Given the description of an element on the screen output the (x, y) to click on. 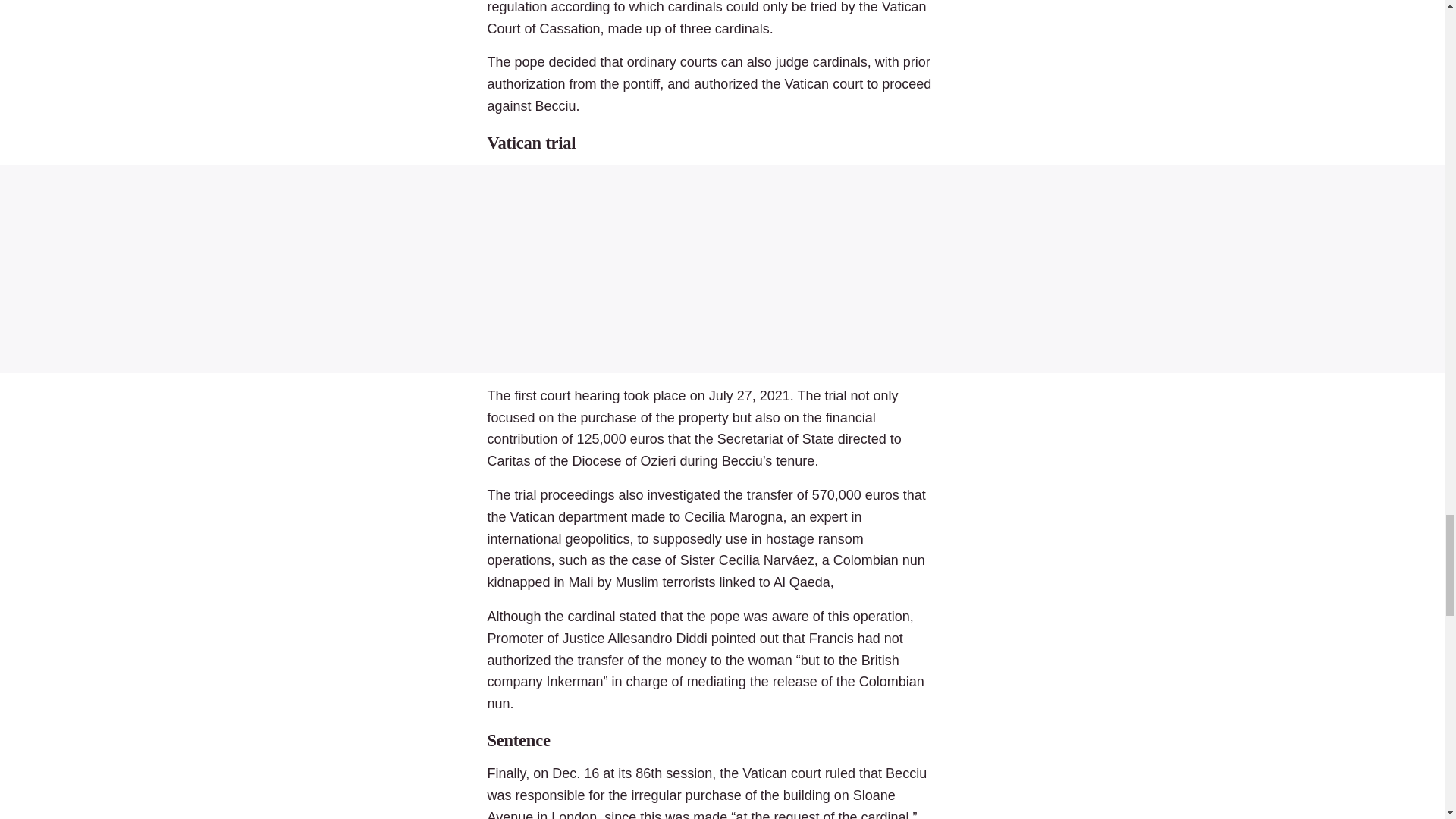
3rd party ad content (721, 268)
